Given the description of an element on the screen output the (x, y) to click on. 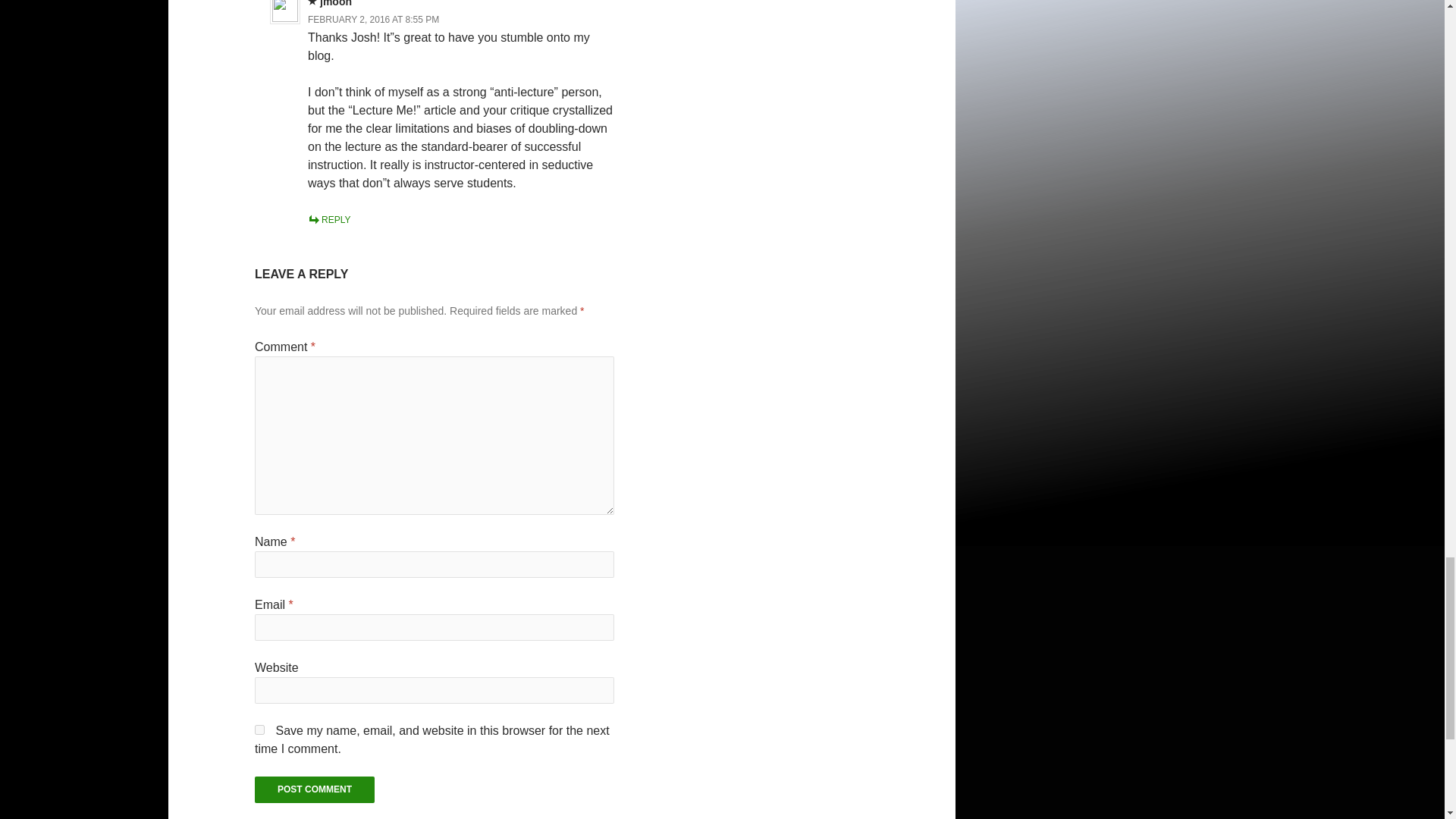
yes (259, 729)
Post Comment (314, 789)
Post Comment (314, 789)
FEBRUARY 2, 2016 AT 8:55 PM (373, 19)
REPLY (328, 219)
